Given the description of an element on the screen output the (x, y) to click on. 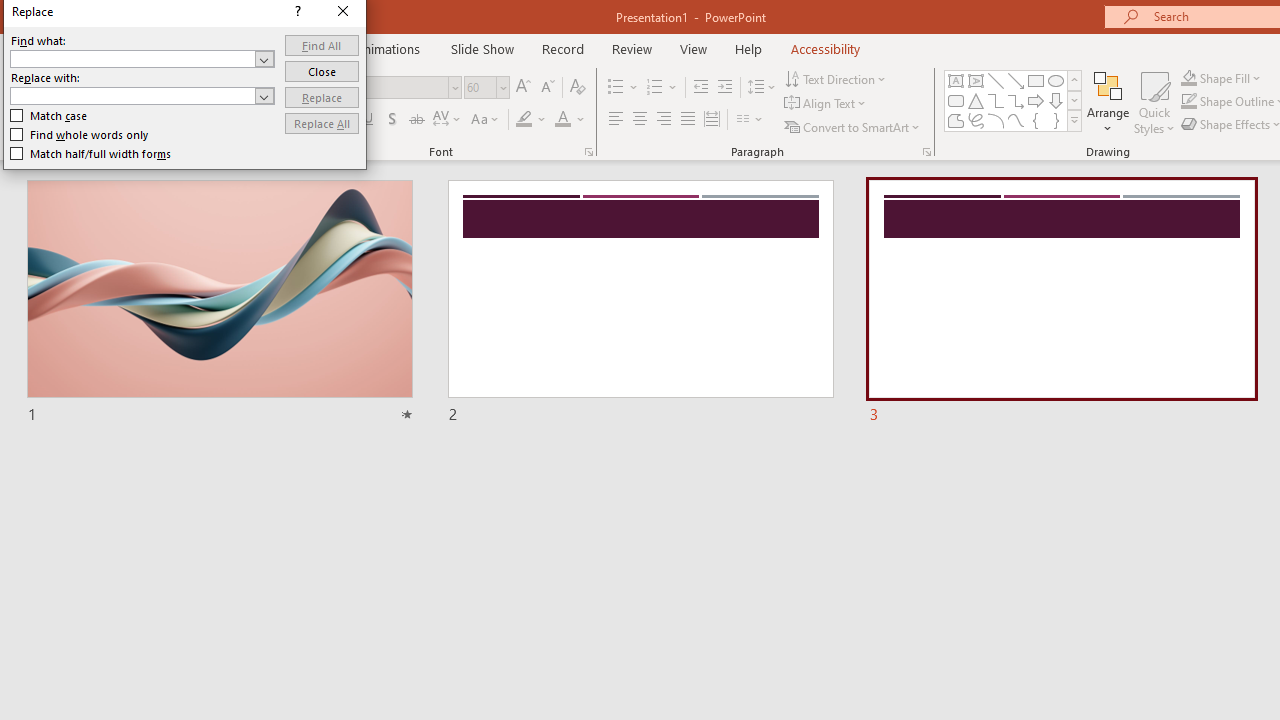
Replace with (142, 96)
